Given the description of an element on the screen output the (x, y) to click on. 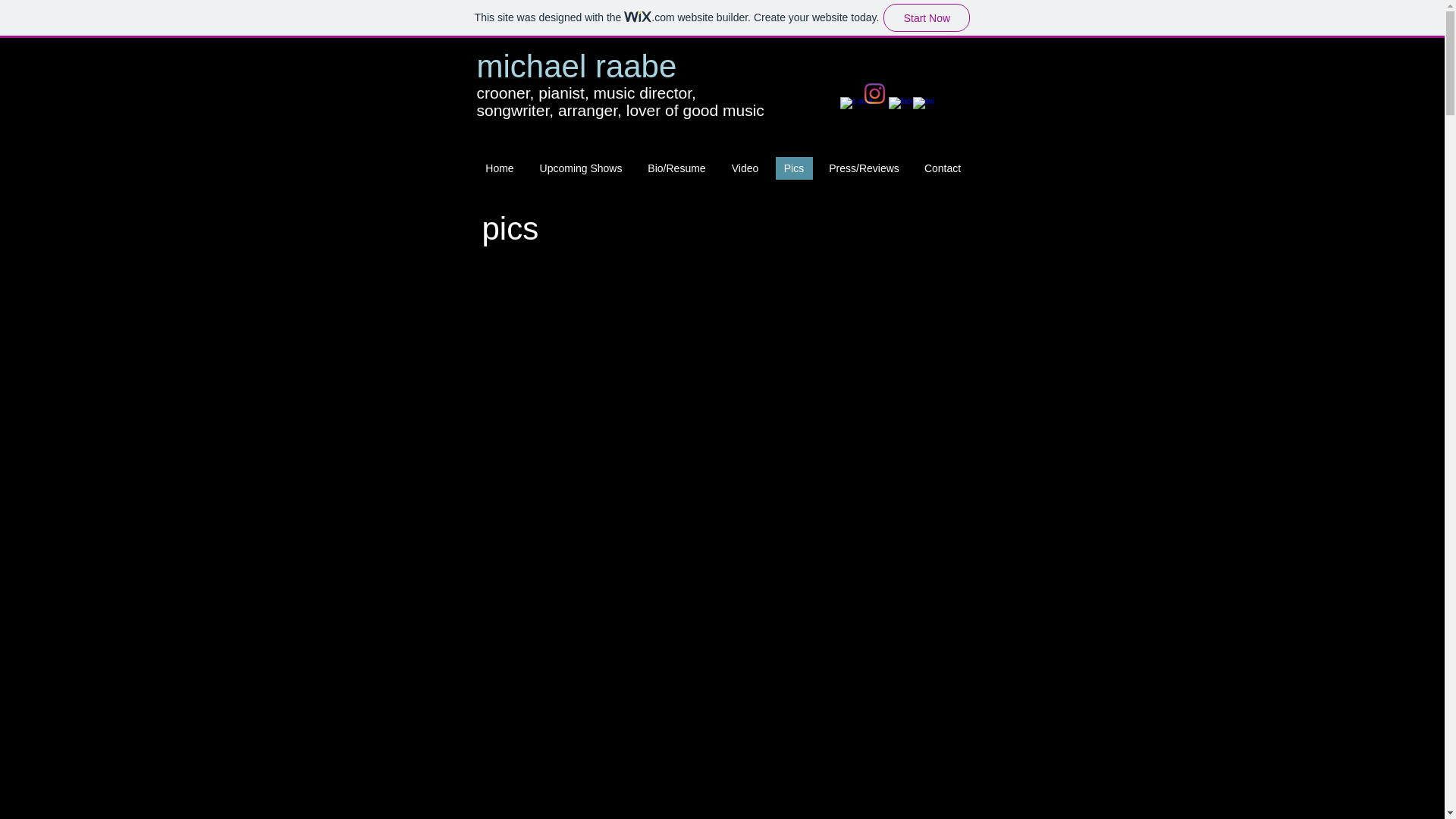
Video (744, 168)
Upcoming Shows (581, 168)
Home (499, 168)
Contact (942, 168)
Pics (793, 168)
